Given the description of an element on the screen output the (x, y) to click on. 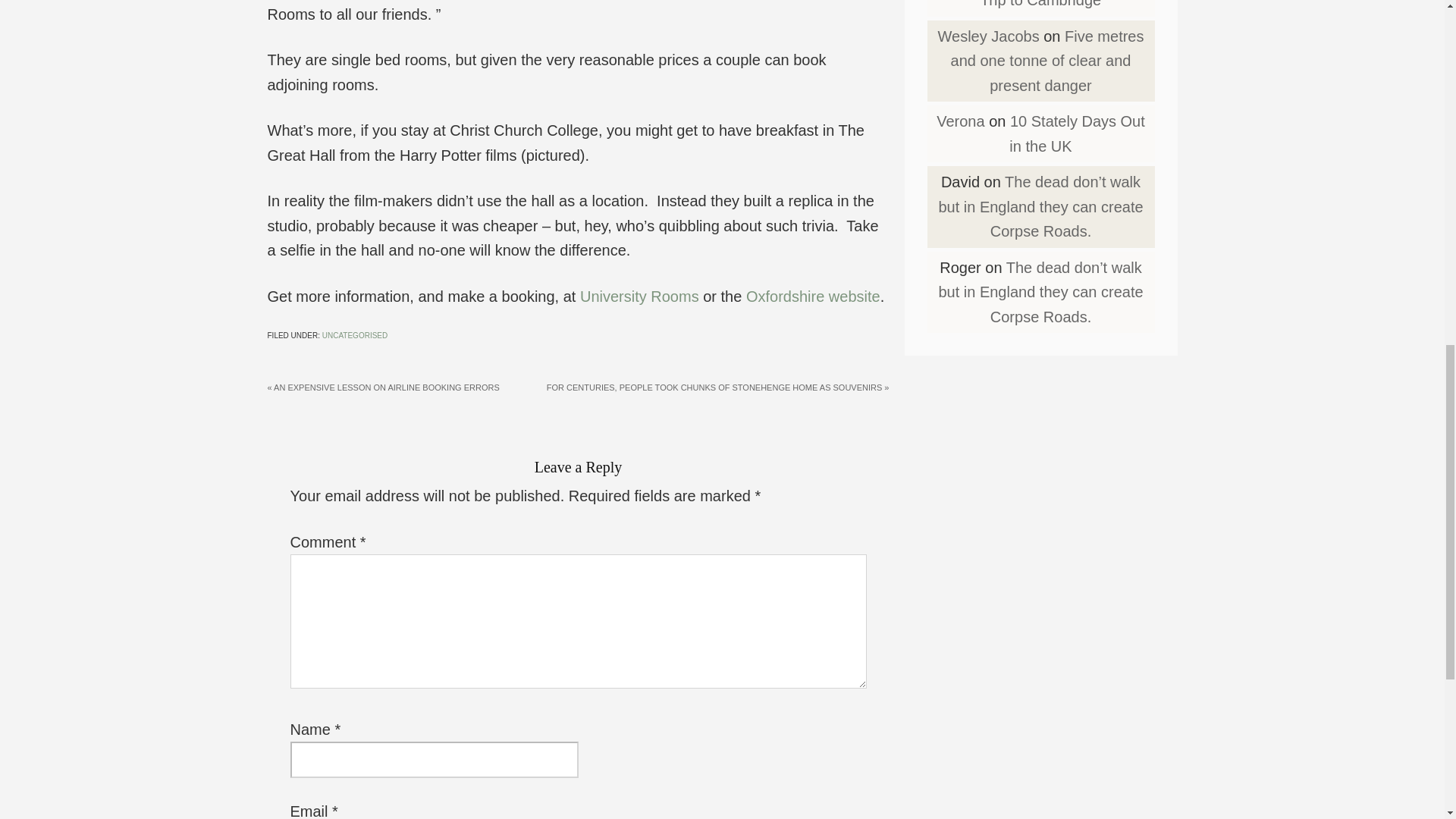
UNCATEGORISED (354, 335)
Wesley Jacobs (988, 36)
University Rooms (638, 296)
Five metres and one tonne of clear and present danger (1047, 60)
A Great British Road Trip to Cambridge (1062, 4)
Oxfordshire website (812, 296)
Verona (960, 121)
10 Stately Days Out in the UK (1076, 133)
